Given the description of an element on the screen output the (x, y) to click on. 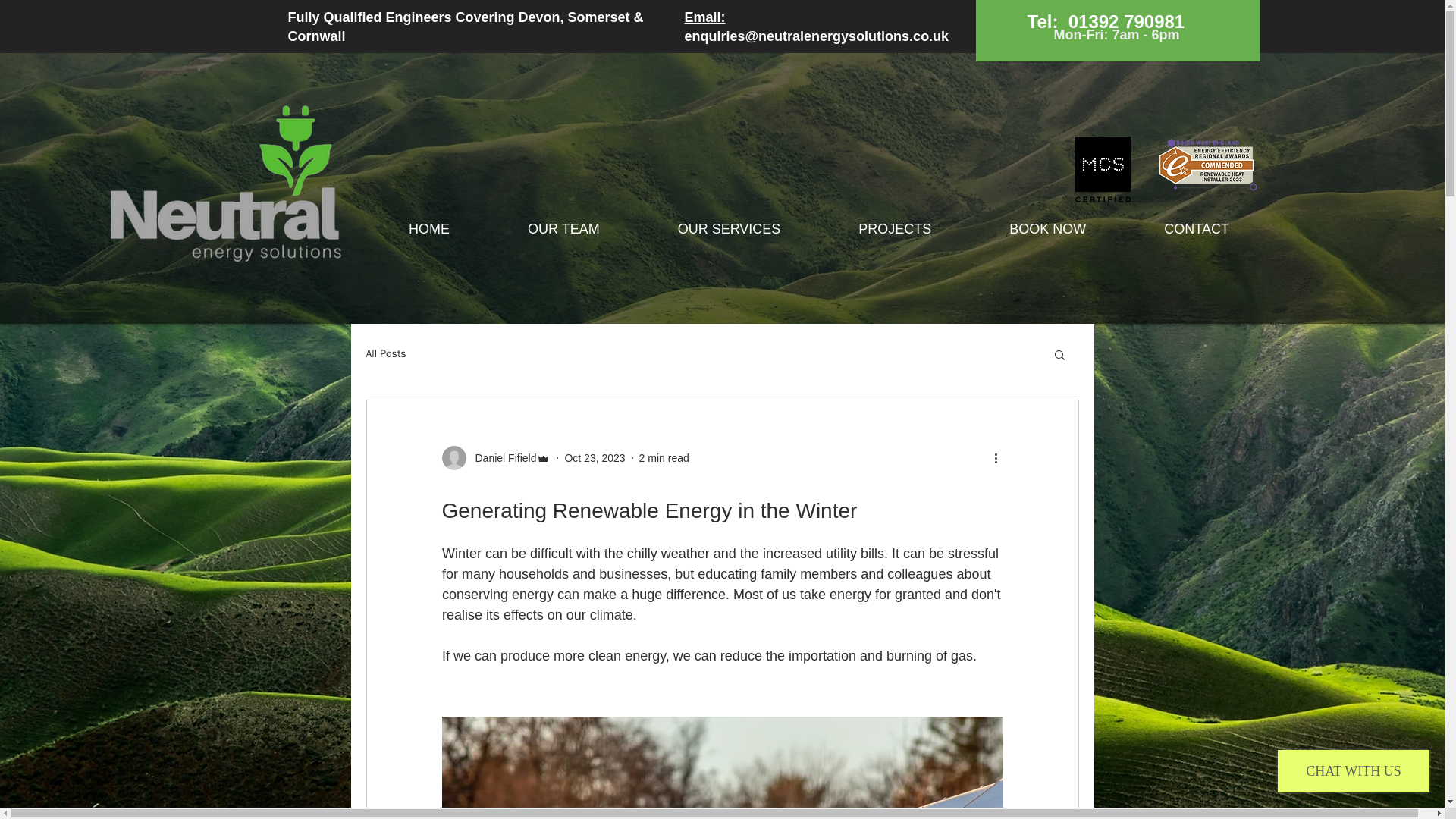
Tel:  01392 790981 (1105, 24)
PROJECTS (895, 229)
HOME (429, 229)
OUR SERVICES (729, 229)
CONTACT (1196, 229)
All Posts (385, 354)
Wix Chat (1356, 774)
Daniel Fifield (500, 458)
2 min read (663, 458)
Oct 23, 2023 (594, 458)
BOOK NOW (1048, 229)
Daniel Fifield (495, 457)
OUR TEAM (563, 229)
